Given the description of an element on the screen output the (x, y) to click on. 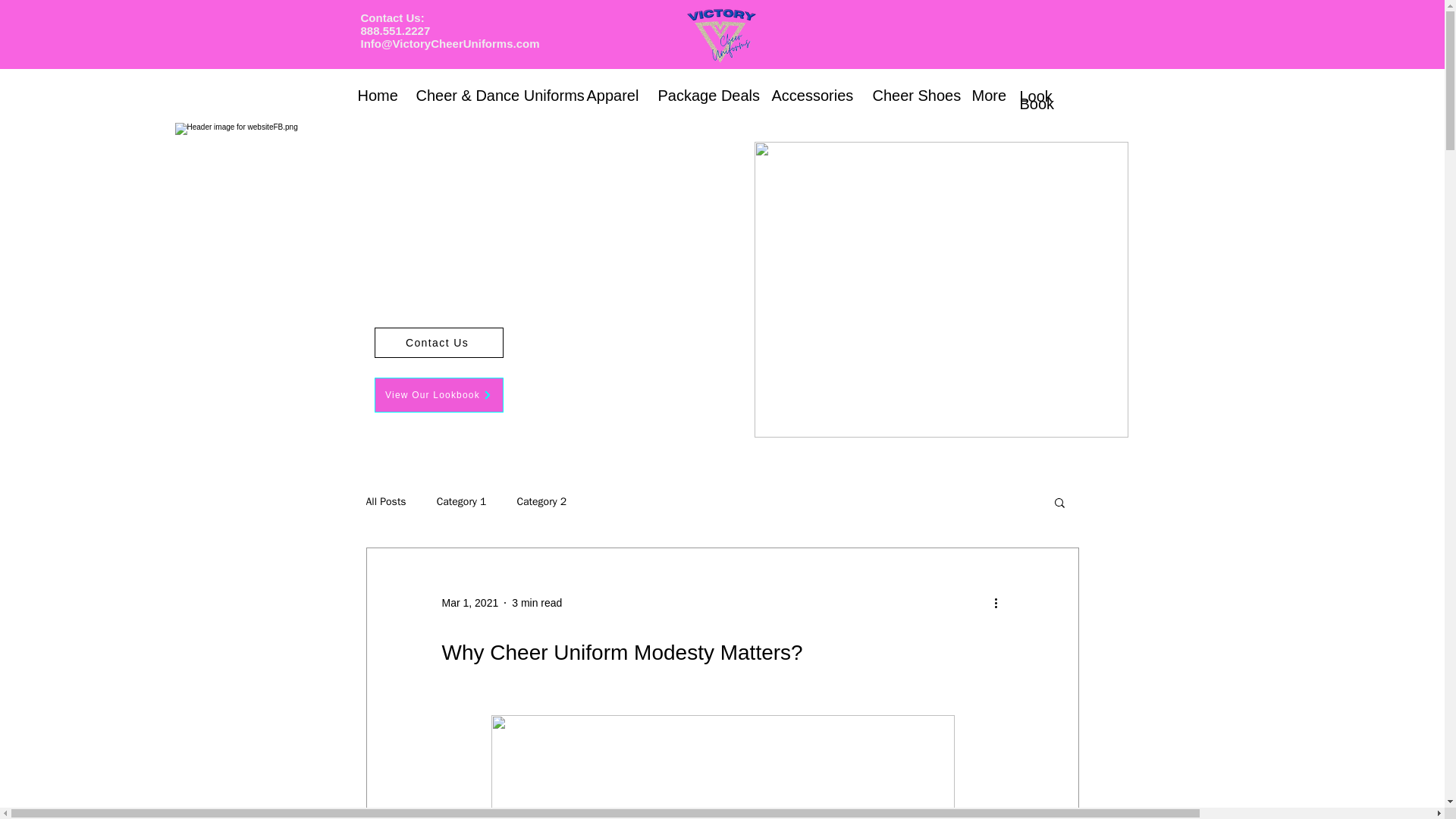
Category 2 (541, 501)
Category 1 (461, 501)
Contact Us (438, 342)
Cheer Shoes (910, 95)
View Our Lookbook (438, 394)
Apparel (610, 95)
3 min read (537, 602)
Accessories (810, 95)
Mar 1, 2021 (469, 602)
CUTOUT V LOGO.png (940, 289)
Package Deals (703, 95)
Look Book (1036, 99)
Home (375, 95)
All Posts (385, 501)
